Given the description of an element on the screen output the (x, y) to click on. 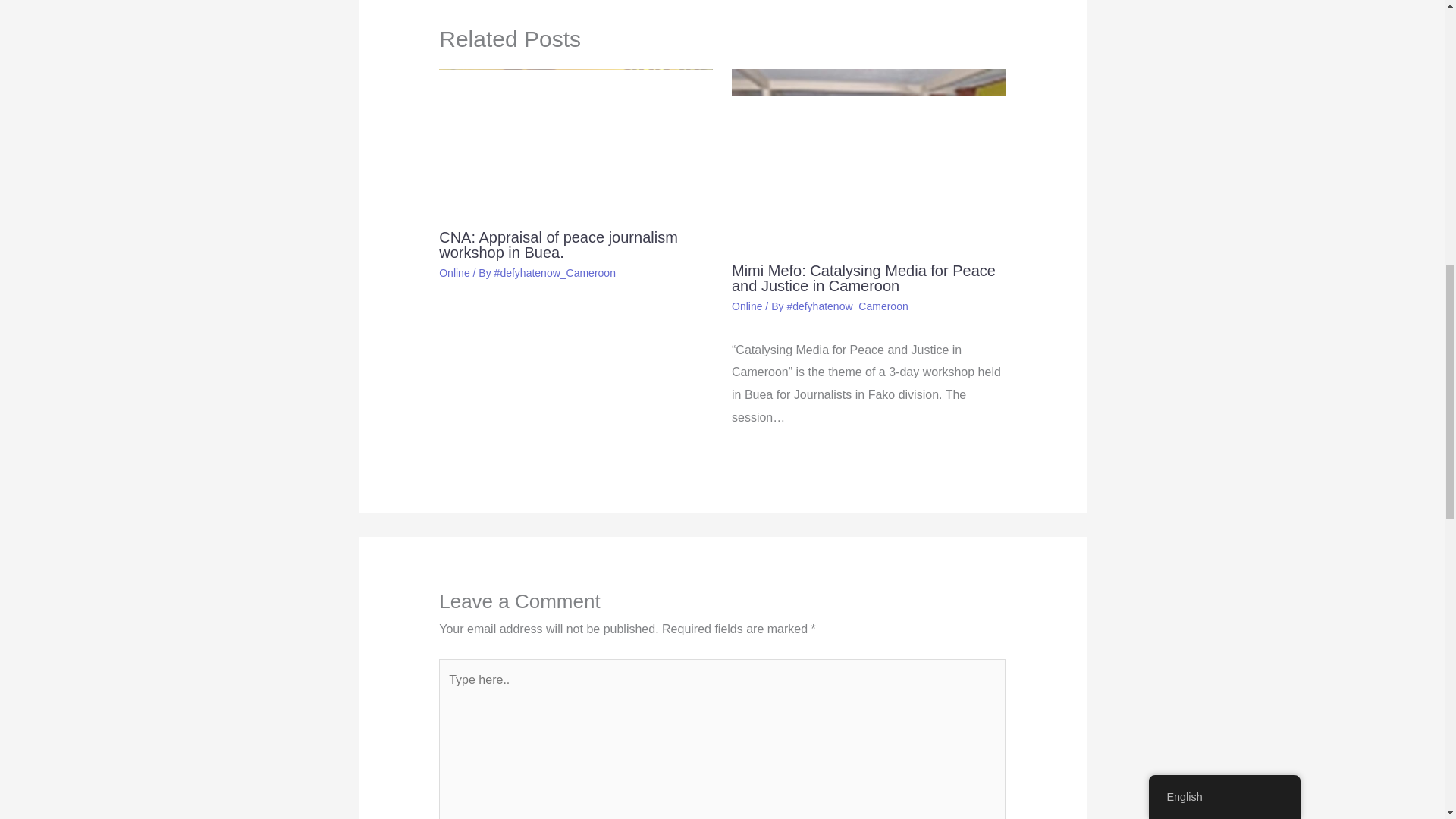
Online (453, 272)
Online (746, 306)
CNA: Appraisal of peace journalism workshop in Buea. (558, 245)
